Given the description of an element on the screen output the (x, y) to click on. 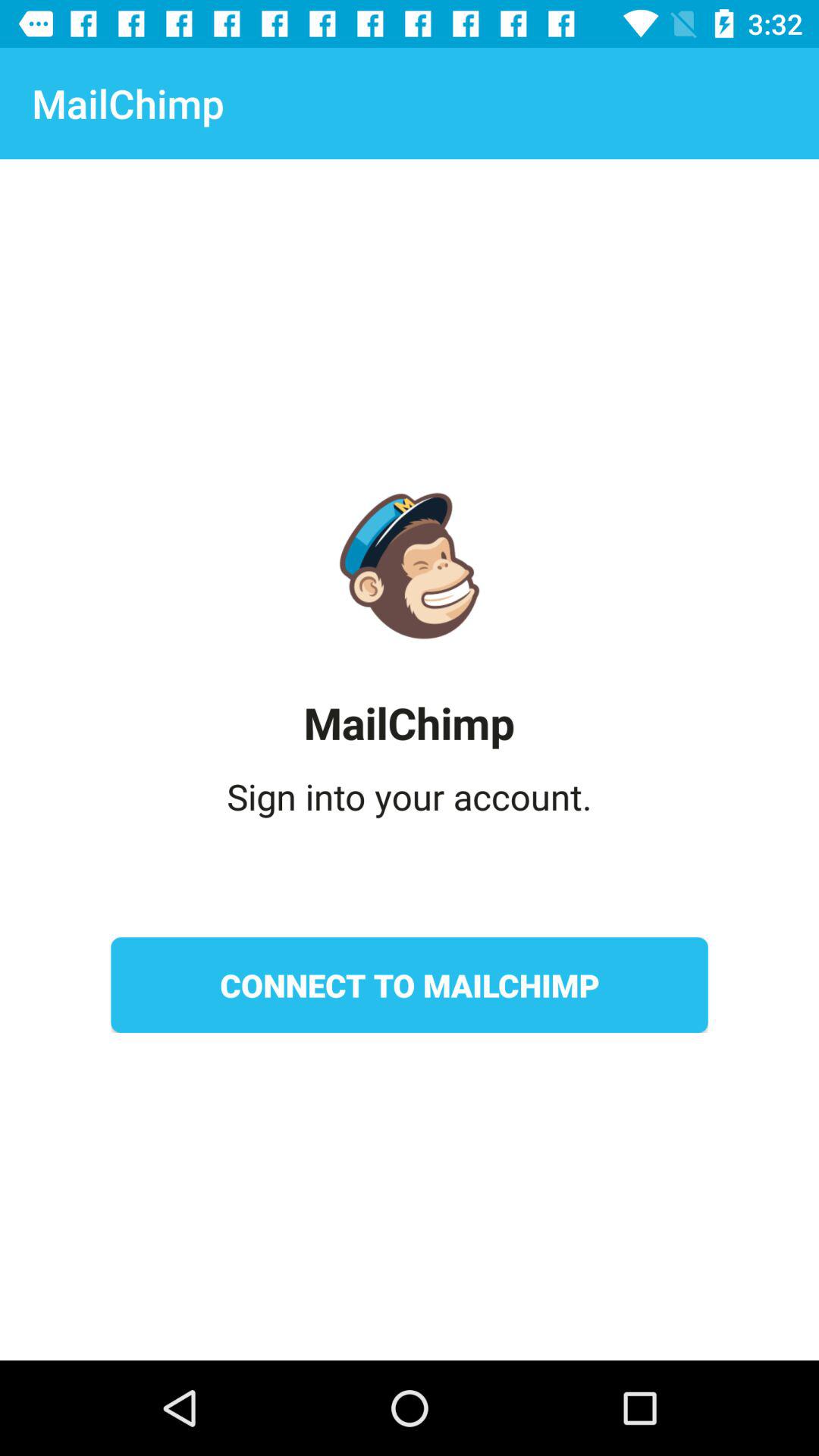
scroll to the connect to mailchimp icon (409, 984)
